Given the description of an element on the screen output the (x, y) to click on. 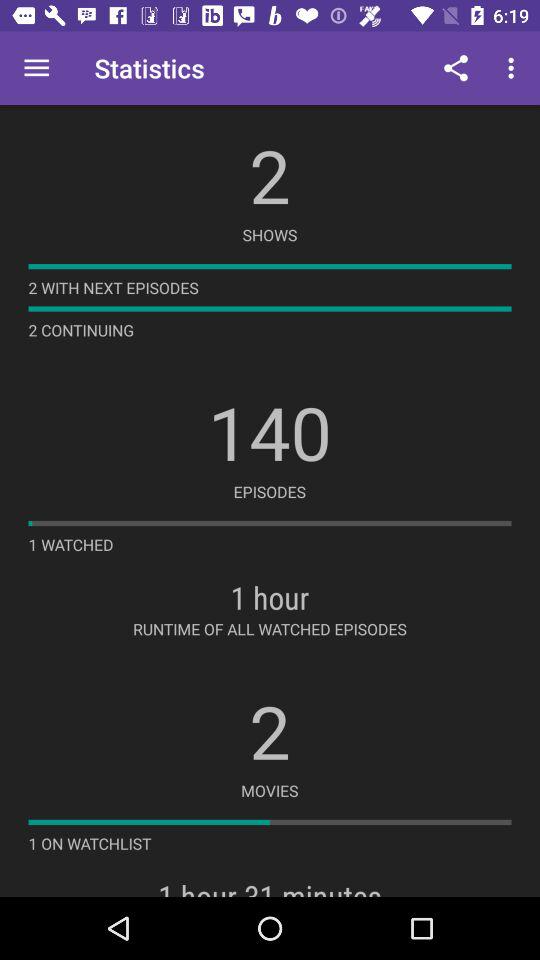
flip to the 1 watched icon (70, 544)
